Given the description of an element on the screen output the (x, y) to click on. 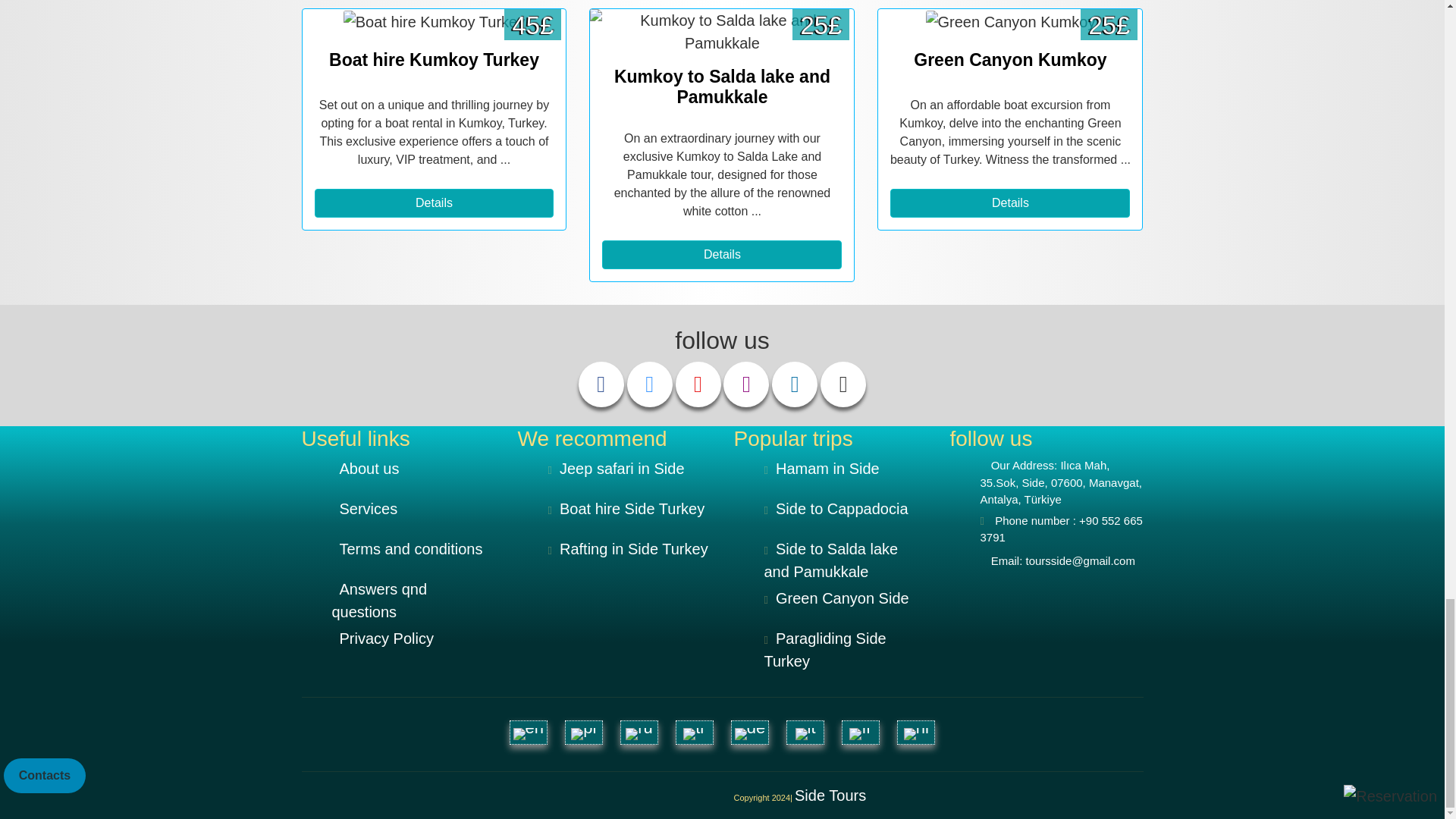
Boat hire Kumkoy Turkey (433, 21)
